Given the description of an element on the screen output the (x, y) to click on. 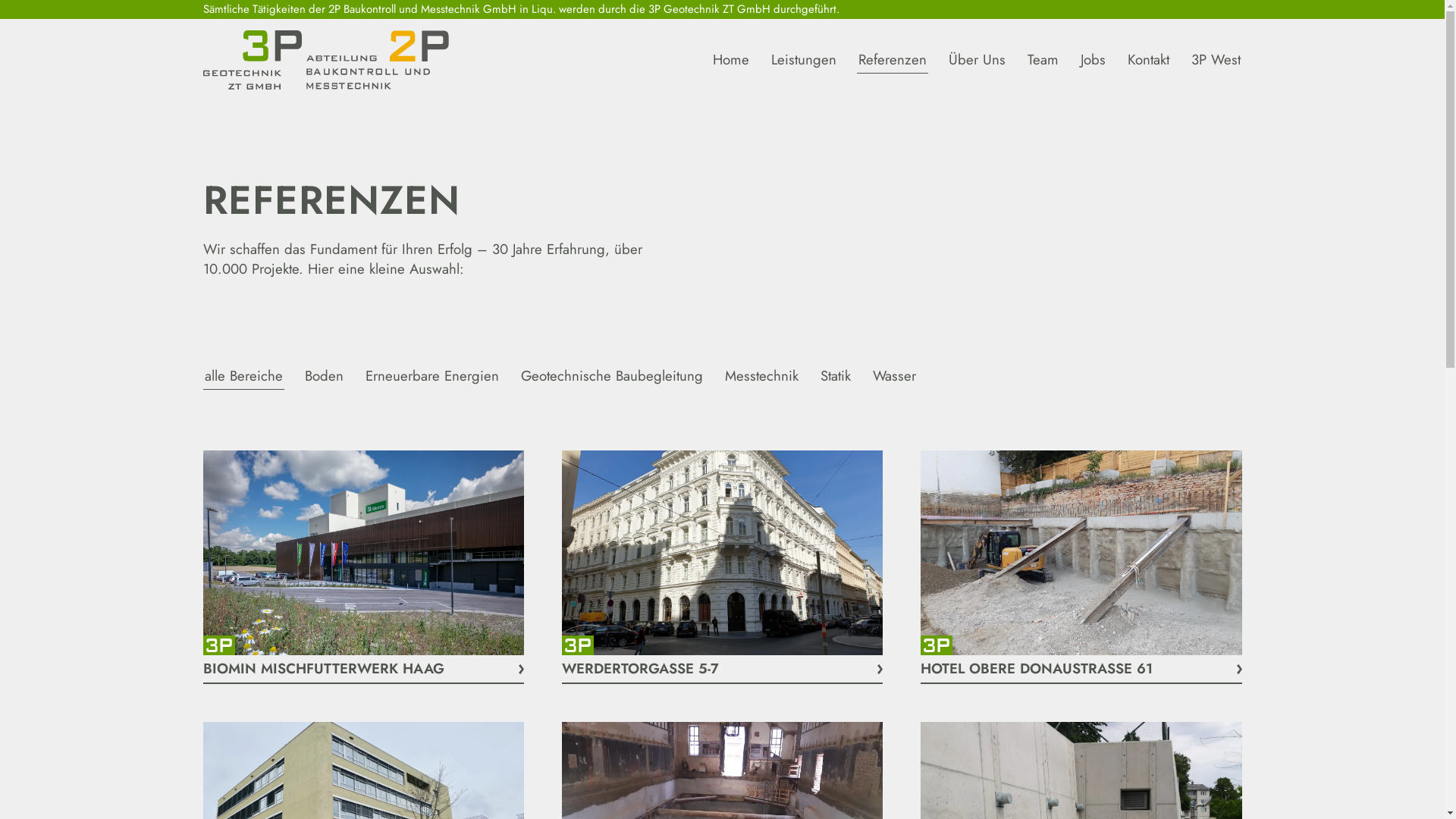
Messtechnik Element type: text (761, 375)
Team Element type: text (1042, 59)
Referenzen Element type: text (892, 59)
Home Element type: text (730, 59)
Geotechnische Baubegleitung Element type: text (610, 375)
Wasser Element type: text (893, 375)
Kontakt Element type: text (1147, 59)
Leistungen Element type: text (802, 59)
WERDERTORGASSE 5-7 Element type: text (721, 567)
HOTEL OBERE DONAUSTRASSE 61 Element type: text (1080, 567)
Statik Element type: text (835, 375)
Jobs Element type: text (1092, 59)
Boden Element type: text (324, 375)
3P West Element type: text (1215, 59)
alle Bereiche Element type: text (243, 375)
BIOMIN MISCHFUTTERWERK HAAG Element type: text (363, 567)
Erneuerbare Energien Element type: text (432, 375)
